Given the description of an element on the screen output the (x, y) to click on. 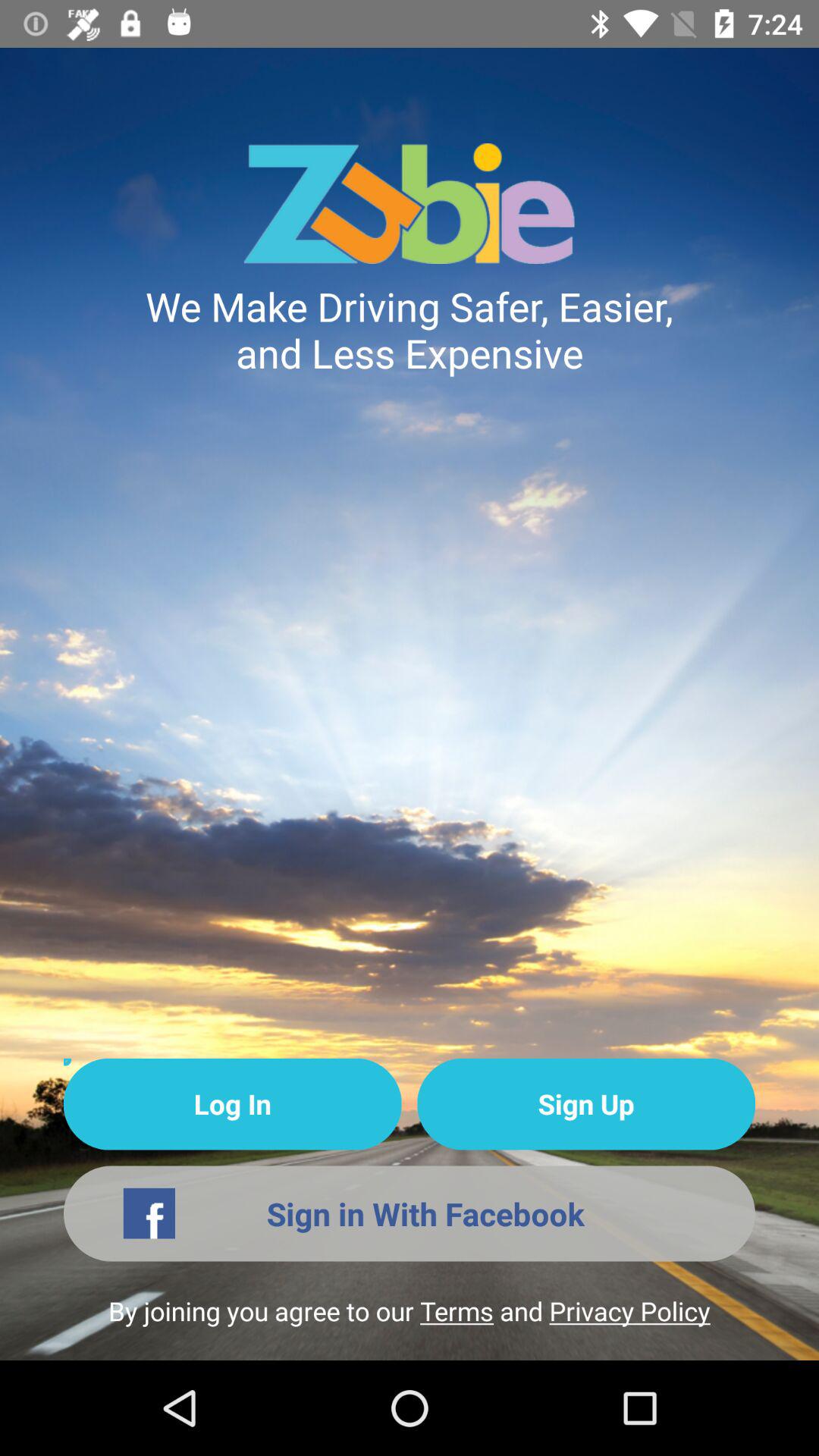
open the icon below we make driving item (232, 1104)
